Given the description of an element on the screen output the (x, y) to click on. 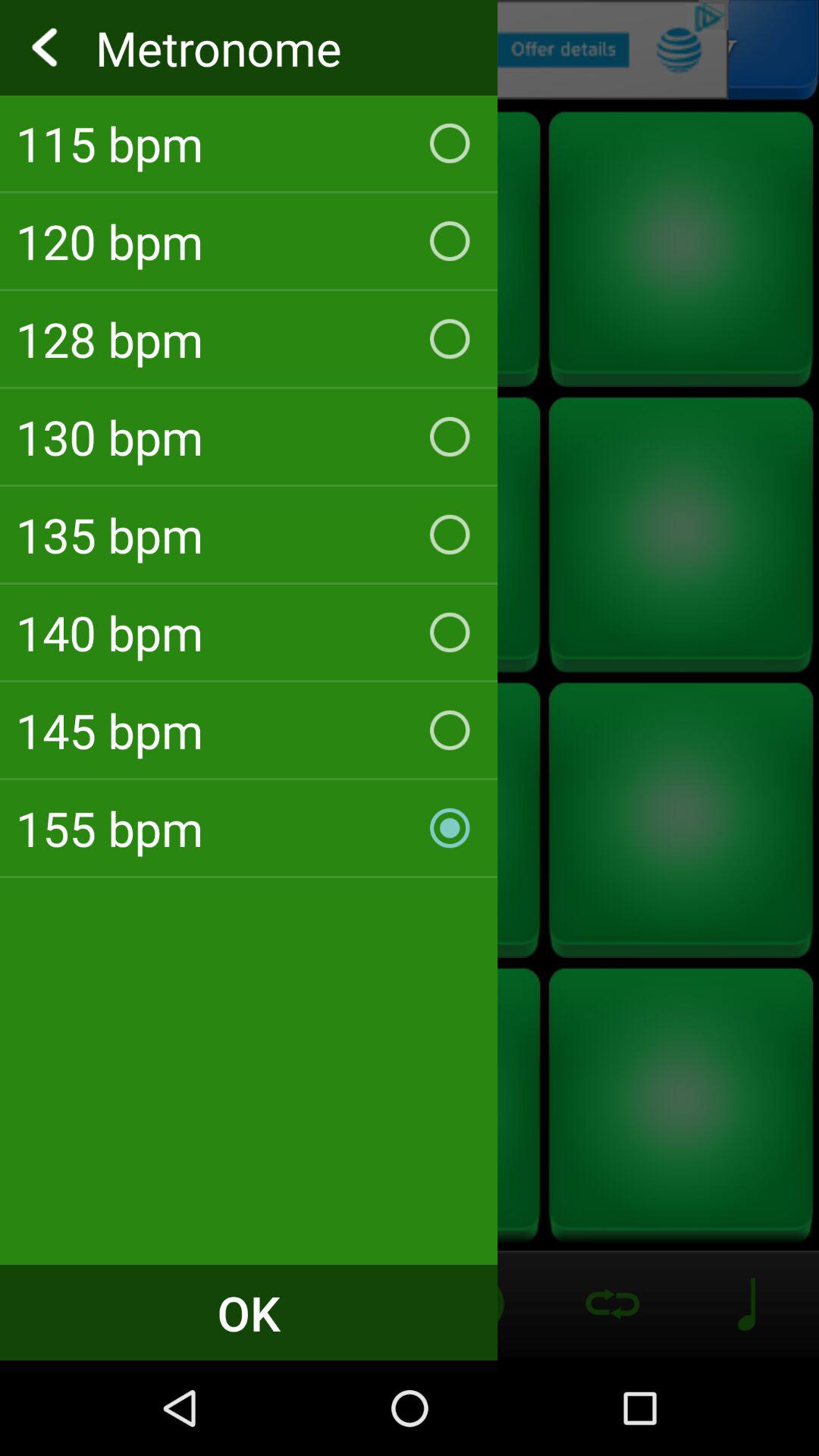
choose the 135 bpm (248, 534)
